Given the description of an element on the screen output the (x, y) to click on. 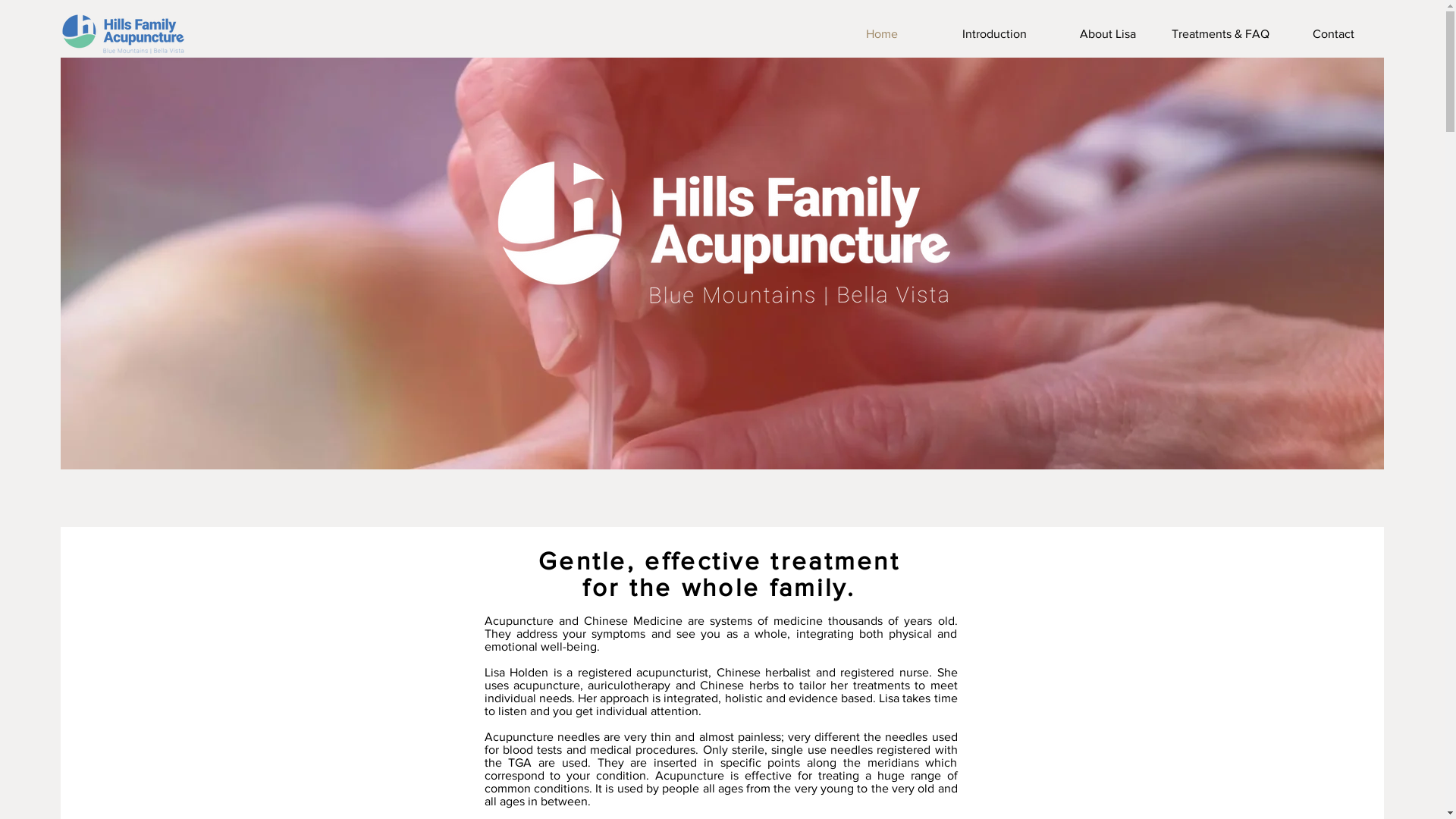
Treatments & FAQ Element type: text (1220, 34)
Introduction Element type: text (994, 34)
About Lisa Element type: text (1107, 34)
HFA_PNG_BLACKBLACK.png Element type: hover (123, 34)
Home Element type: text (881, 34)
Contact Element type: text (1333, 34)
